Given the description of an element on the screen output the (x, y) to click on. 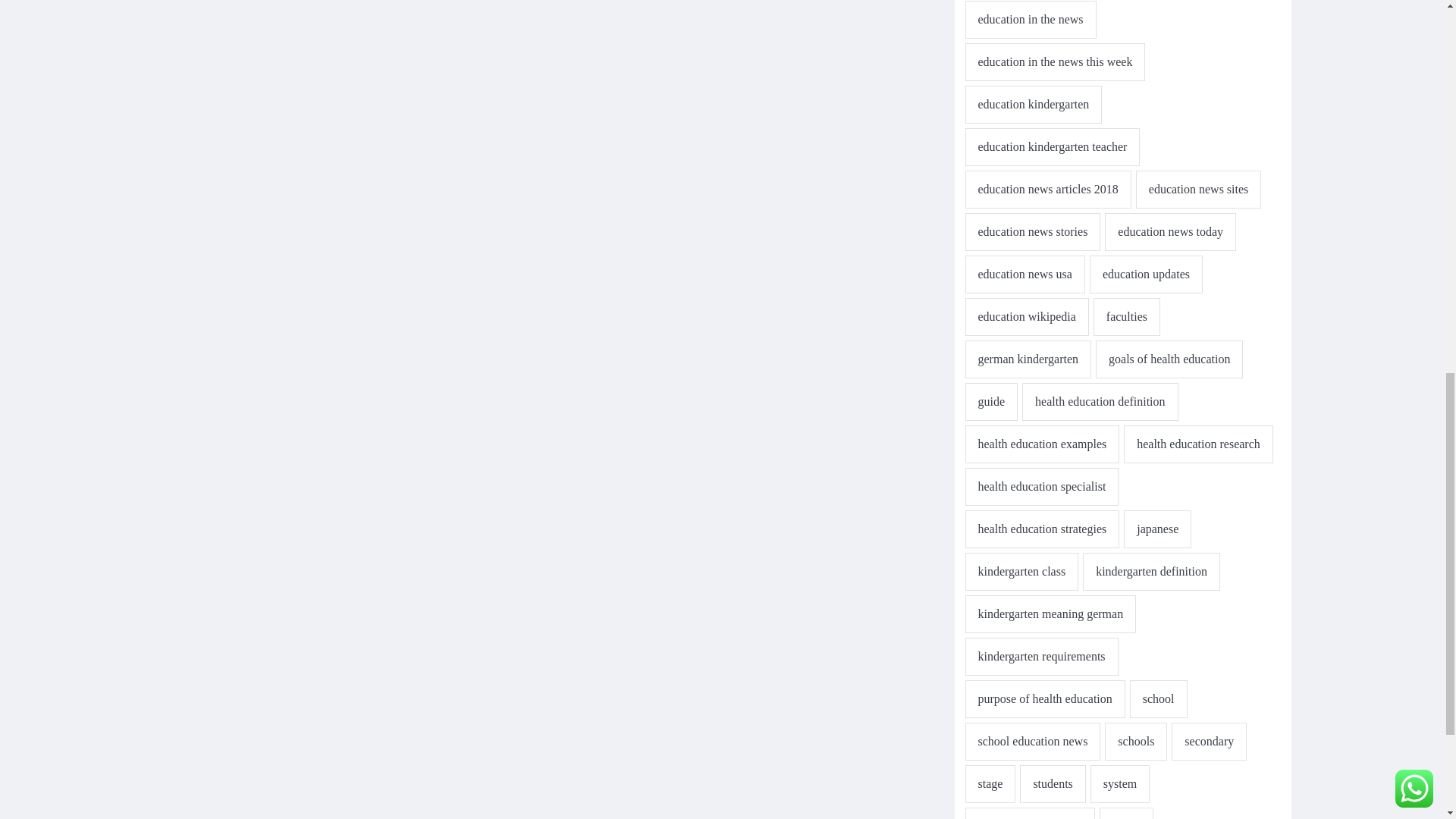
education in the news (1029, 19)
education news articles 2018 (1047, 189)
education in the news this week (1053, 62)
education news today (1170, 231)
education kindergarten teacher (1051, 146)
education news usa (1023, 274)
education kindergarten (1032, 104)
education news stories (1031, 231)
education news sites (1198, 189)
